Given the description of an element on the screen output the (x, y) to click on. 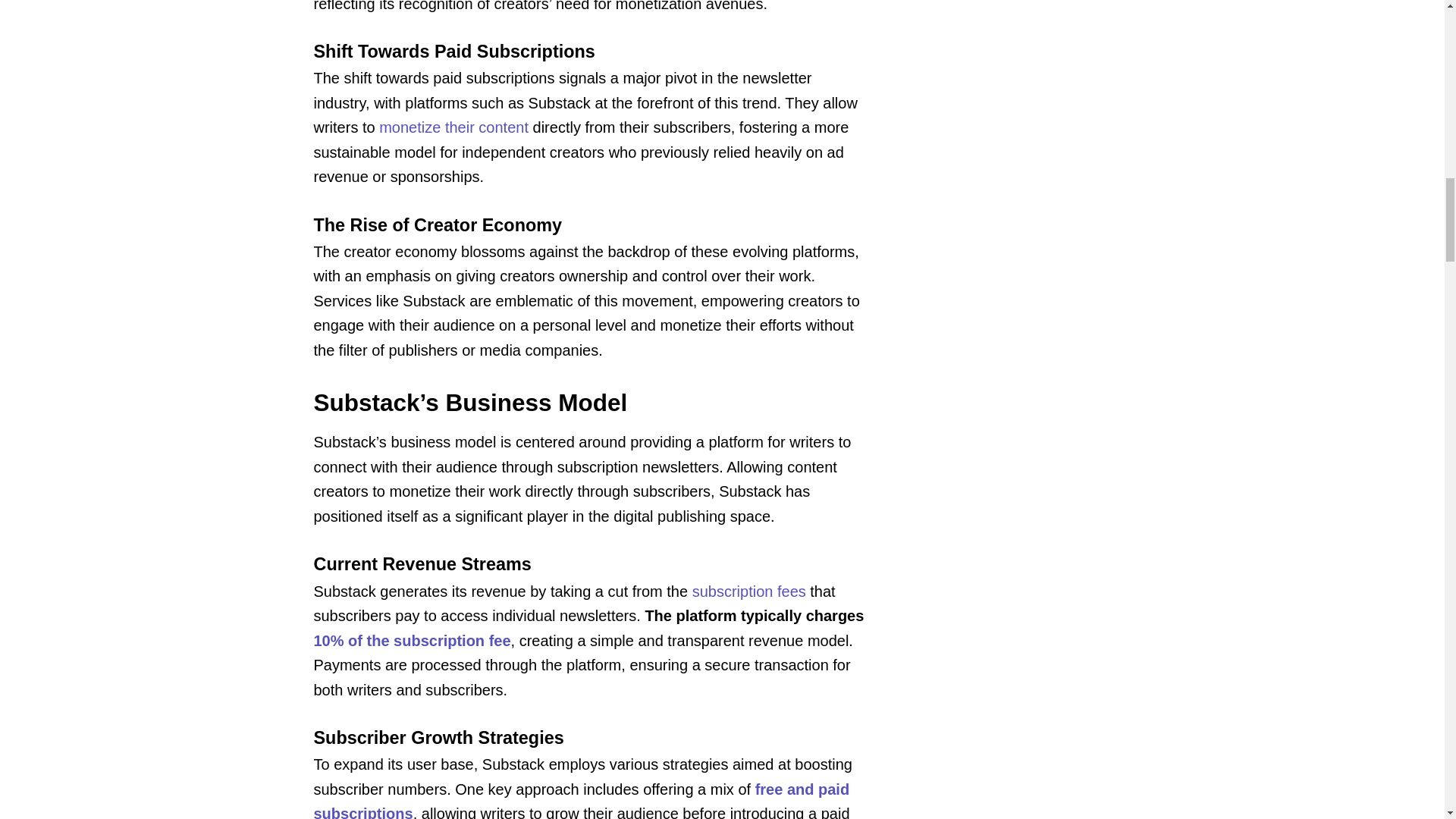
monetize their content (453, 126)
free and paid subscriptions (582, 800)
subscription fees (749, 590)
